Given the description of an element on the screen output the (x, y) to click on. 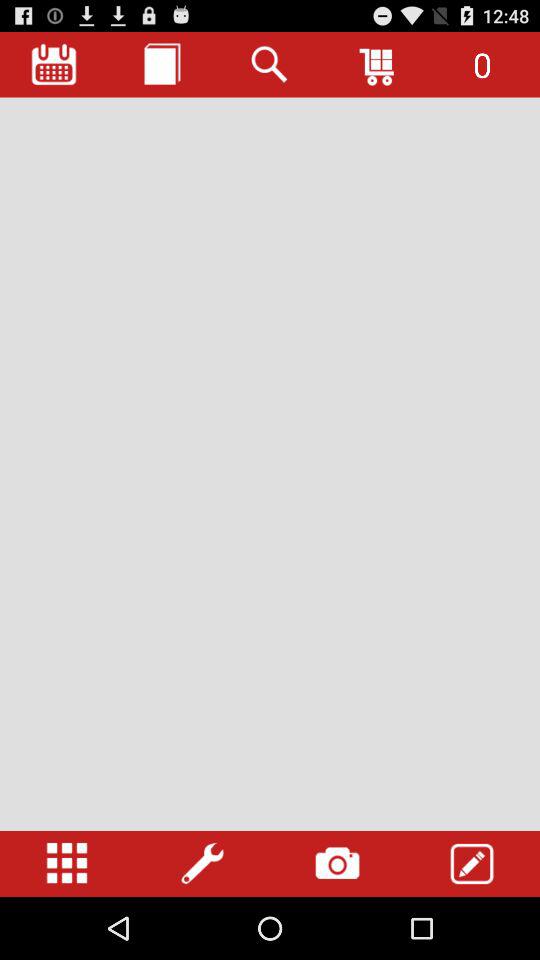
write note (472, 863)
